Given the description of an element on the screen output the (x, y) to click on. 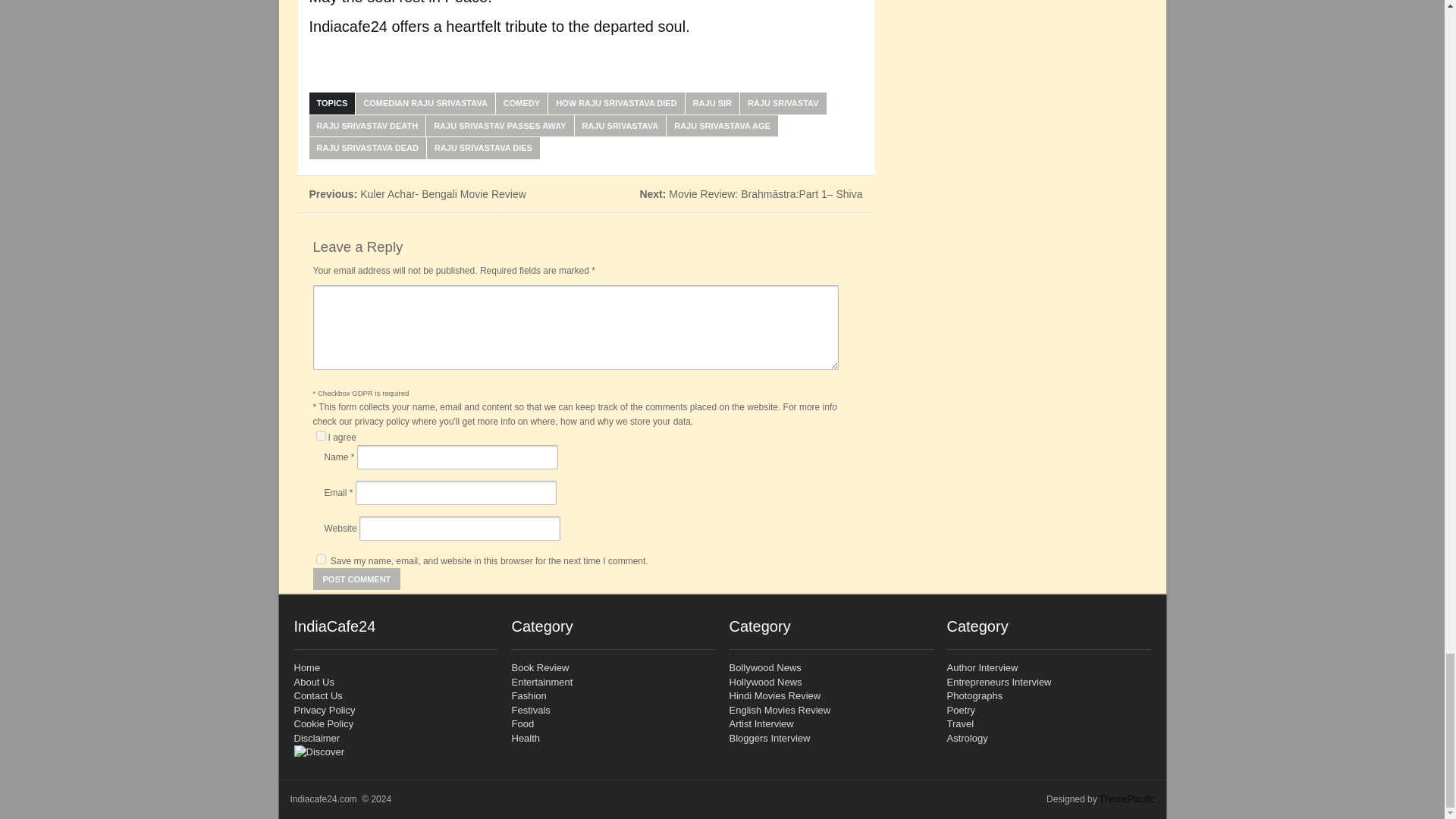
ThemePacific (1126, 798)
Post Comment (356, 578)
Discover latest Indian Blogs (395, 750)
on (319, 435)
yes (319, 559)
